Given the description of an element on the screen output the (x, y) to click on. 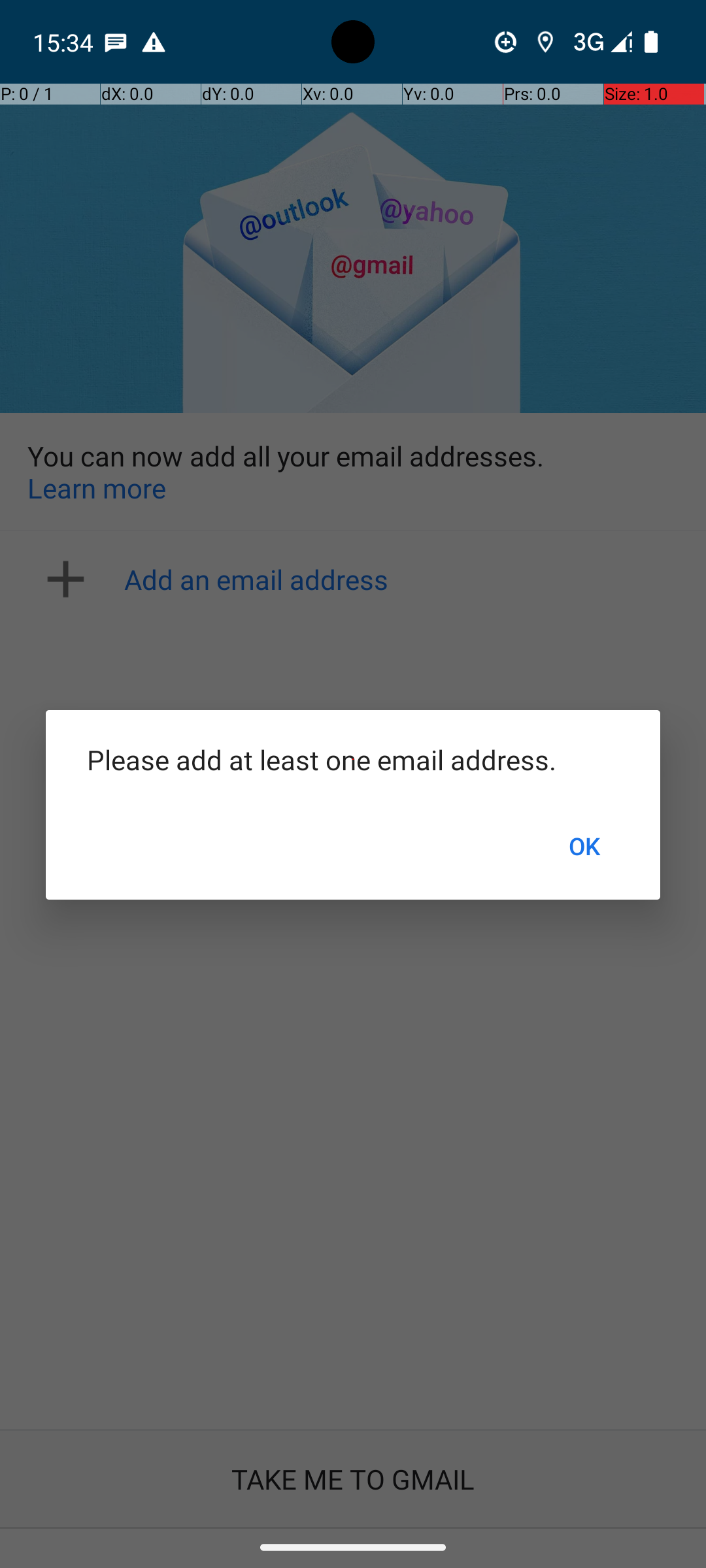
Please add at least one email address. Element type: android.widget.TextView (352, 759)
OK Element type: android.widget.Button (584, 845)
Data Saver is on Element type: android.widget.ImageView (505, 41)
